Given the description of an element on the screen output the (x, y) to click on. 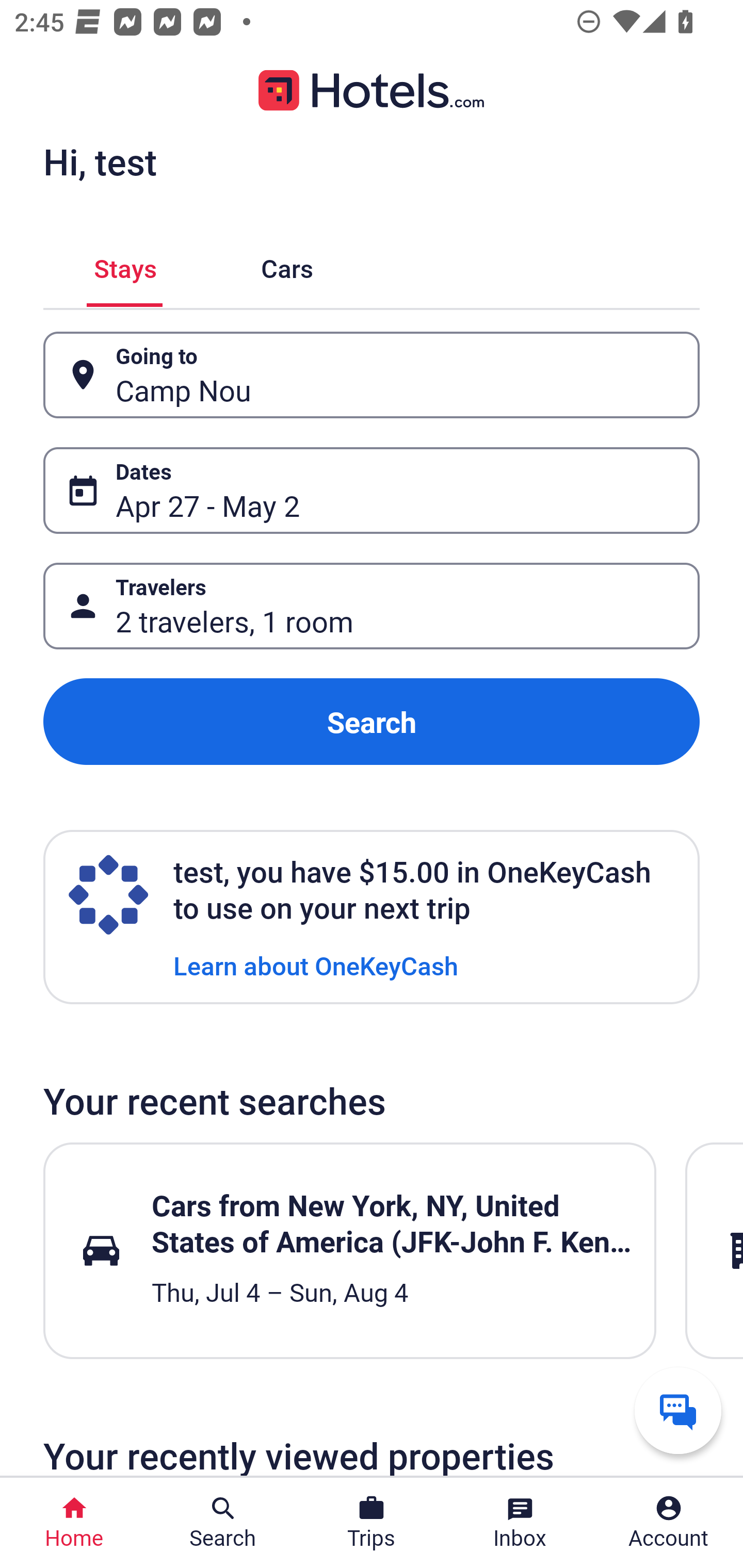
Hi, test (99, 161)
Cars (286, 265)
Going to Button Camp Nou (371, 375)
Dates Button Apr 27 - May 2 (371, 489)
Travelers Button 2 travelers, 1 room (371, 605)
Search (371, 721)
Learn about OneKeyCash Learn about OneKeyCash Link (315, 964)
Get help from a virtual agent (677, 1410)
Search Search Button (222, 1522)
Trips Trips Button (371, 1522)
Inbox Inbox Button (519, 1522)
Account Profile. Button (668, 1522)
